Given the description of an element on the screen output the (x, y) to click on. 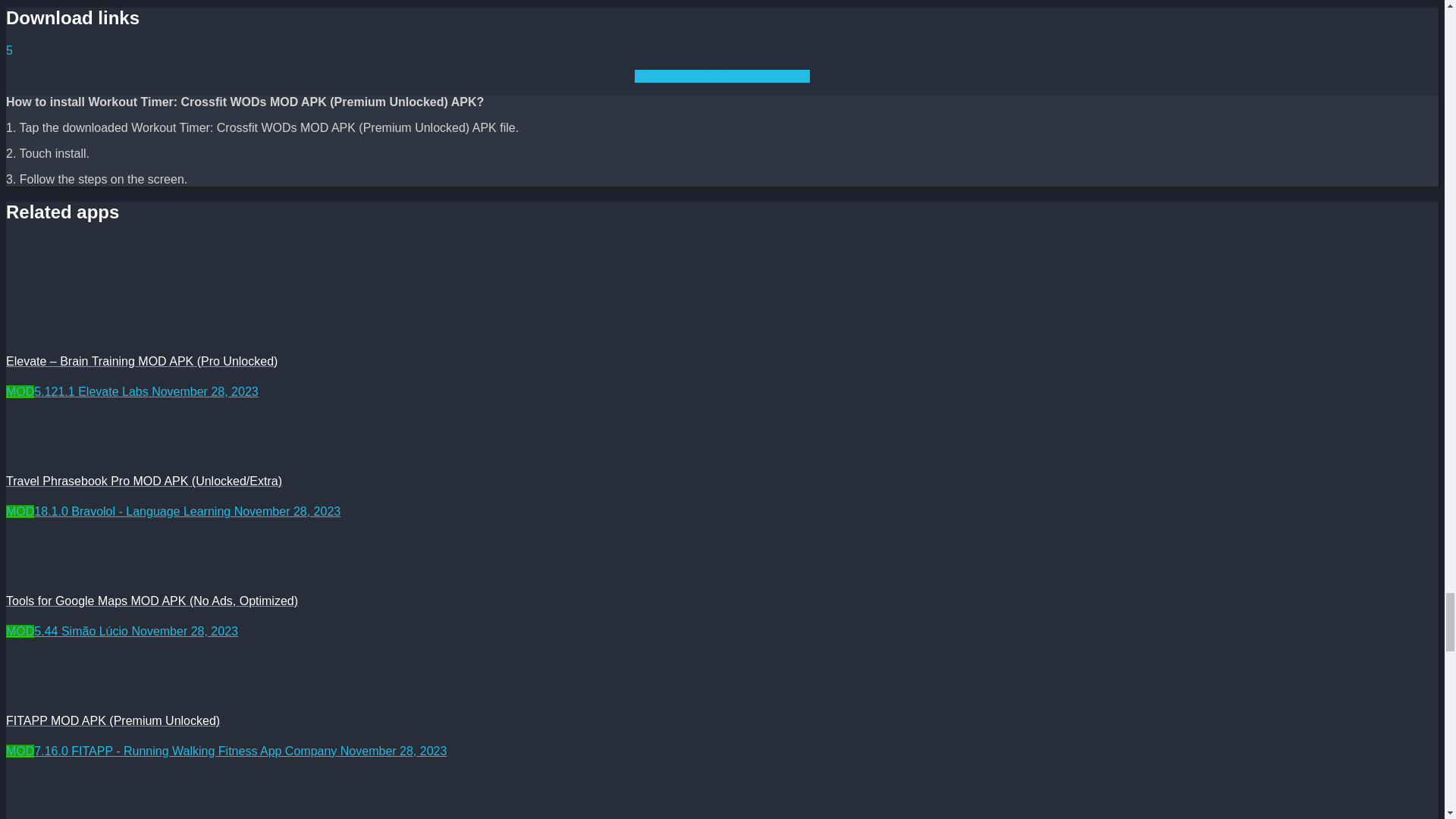
JOIN OUR TELEGRAM GROUP (722, 75)
